Given the description of an element on the screen output the (x, y) to click on. 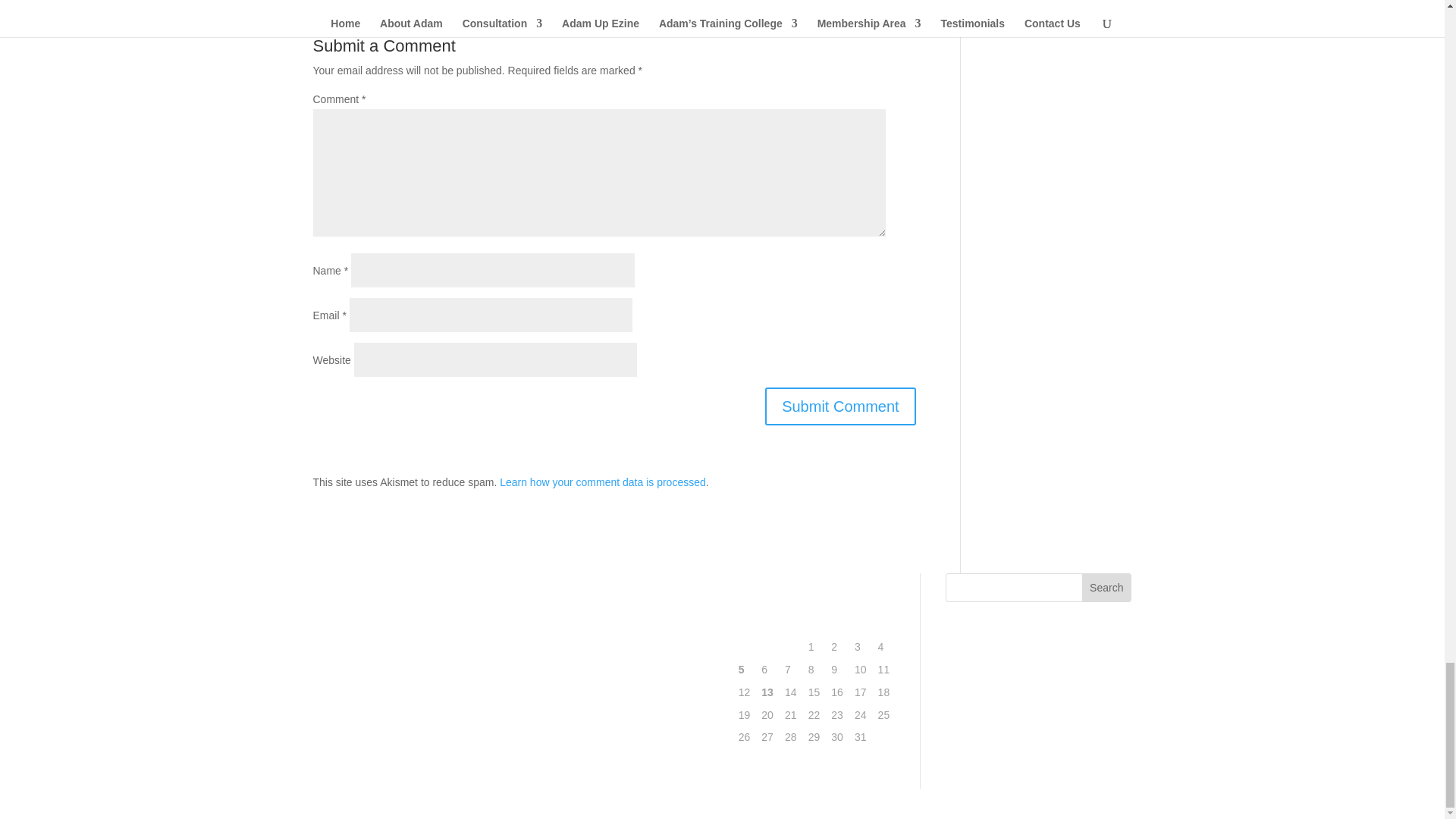
Thursday (816, 624)
Search (1106, 587)
Tuesday (768, 624)
Wednesday (792, 624)
Search (1106, 587)
Submit Comment (840, 406)
Friday (838, 624)
Sunday (886, 624)
Learn how your comment data is processed (602, 481)
Monday (746, 624)
